Given the description of an element on the screen output the (x, y) to click on. 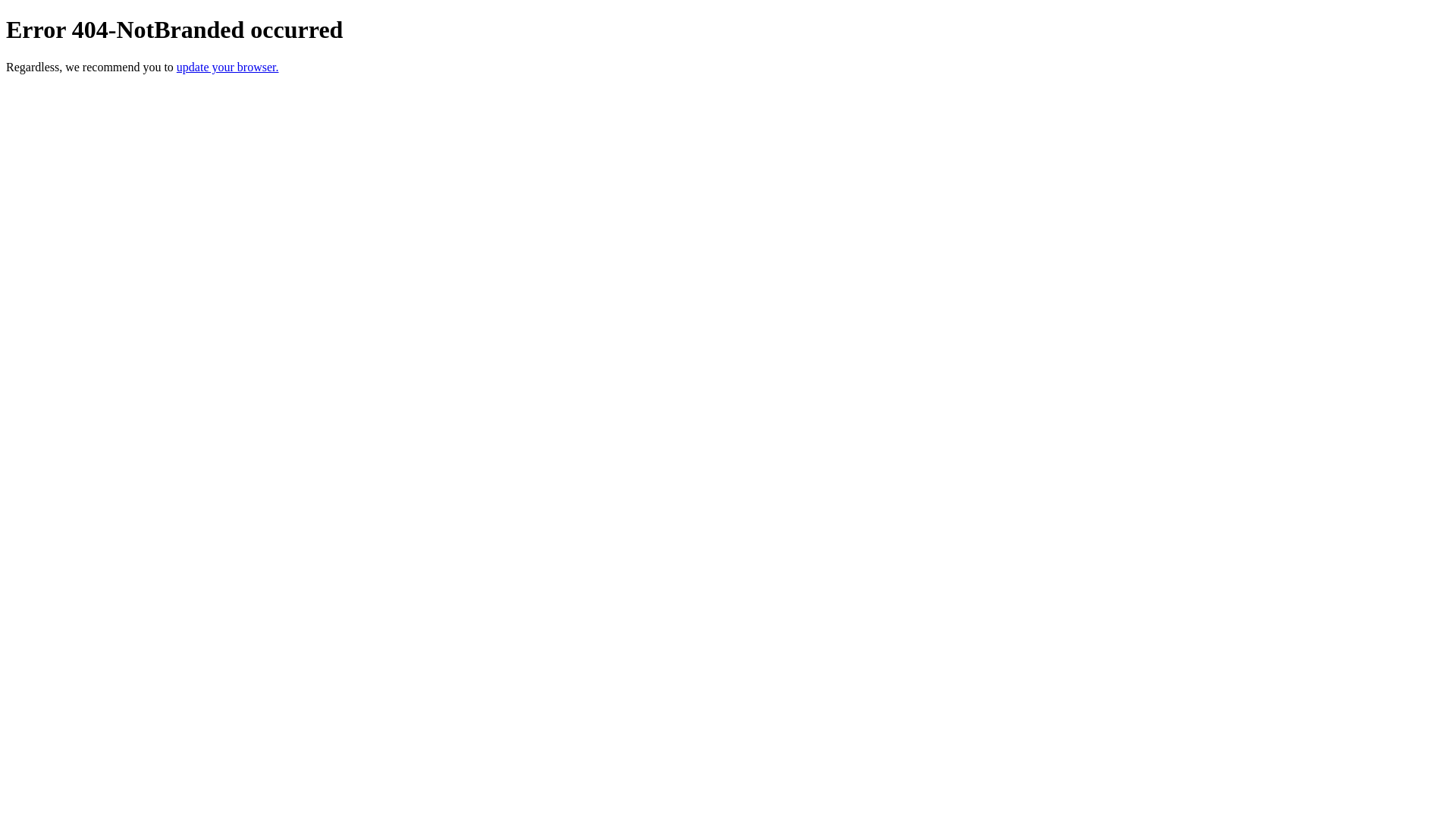
update your browser. Element type: text (227, 66)
